Given the description of an element on the screen output the (x, y) to click on. 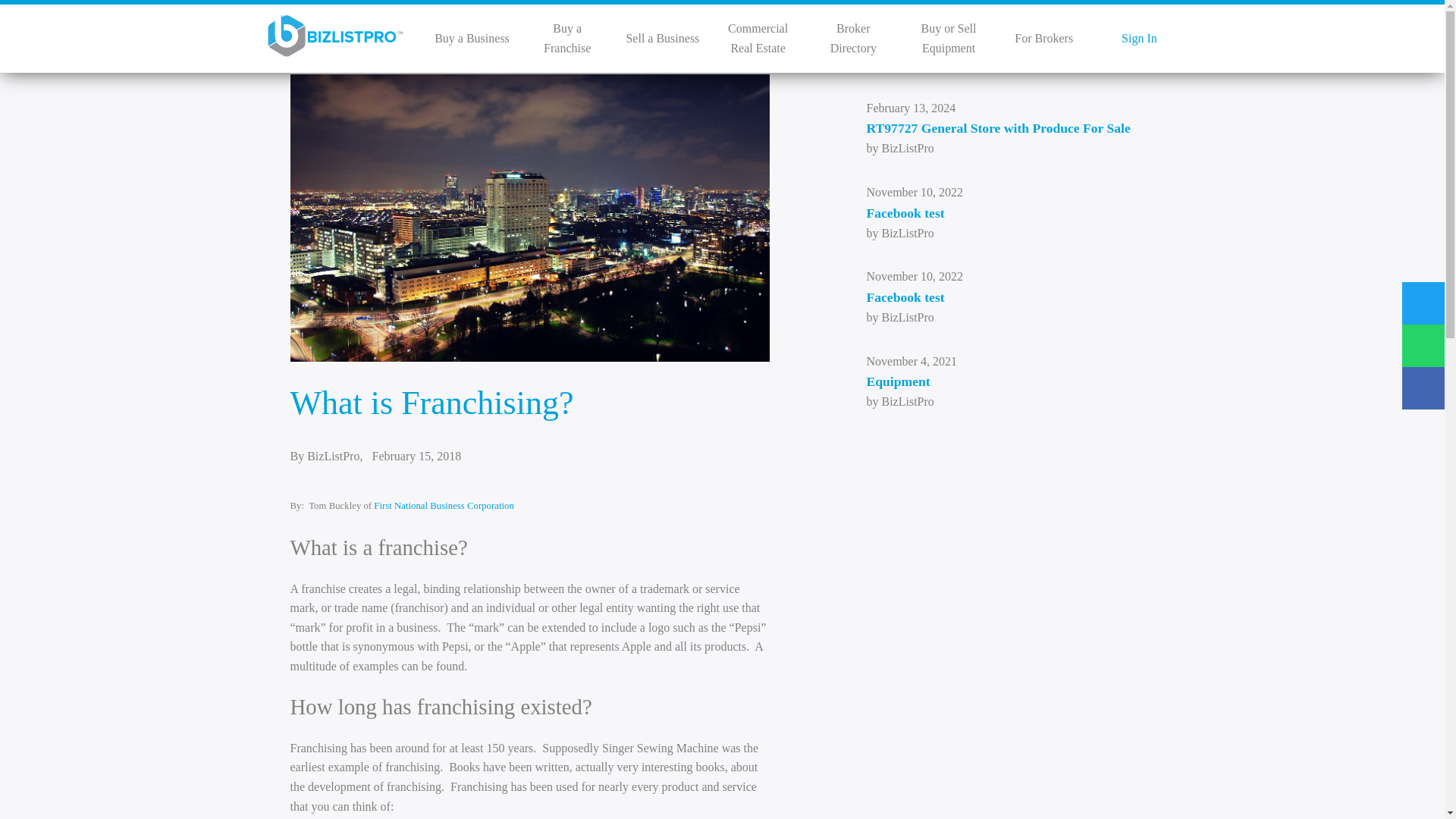
Buy or Sell Equipment (948, 38)
Facebook test (1010, 212)
Sign In (1139, 38)
Commercial Real Estate (757, 38)
Blog (1033, 46)
First National Business Corporation (443, 505)
Equipment (1010, 381)
For Brokers (1043, 38)
RT97727 General Store with Produce For Sale (1010, 127)
Facebook test (1010, 296)
